Given the description of an element on the screen output the (x, y) to click on. 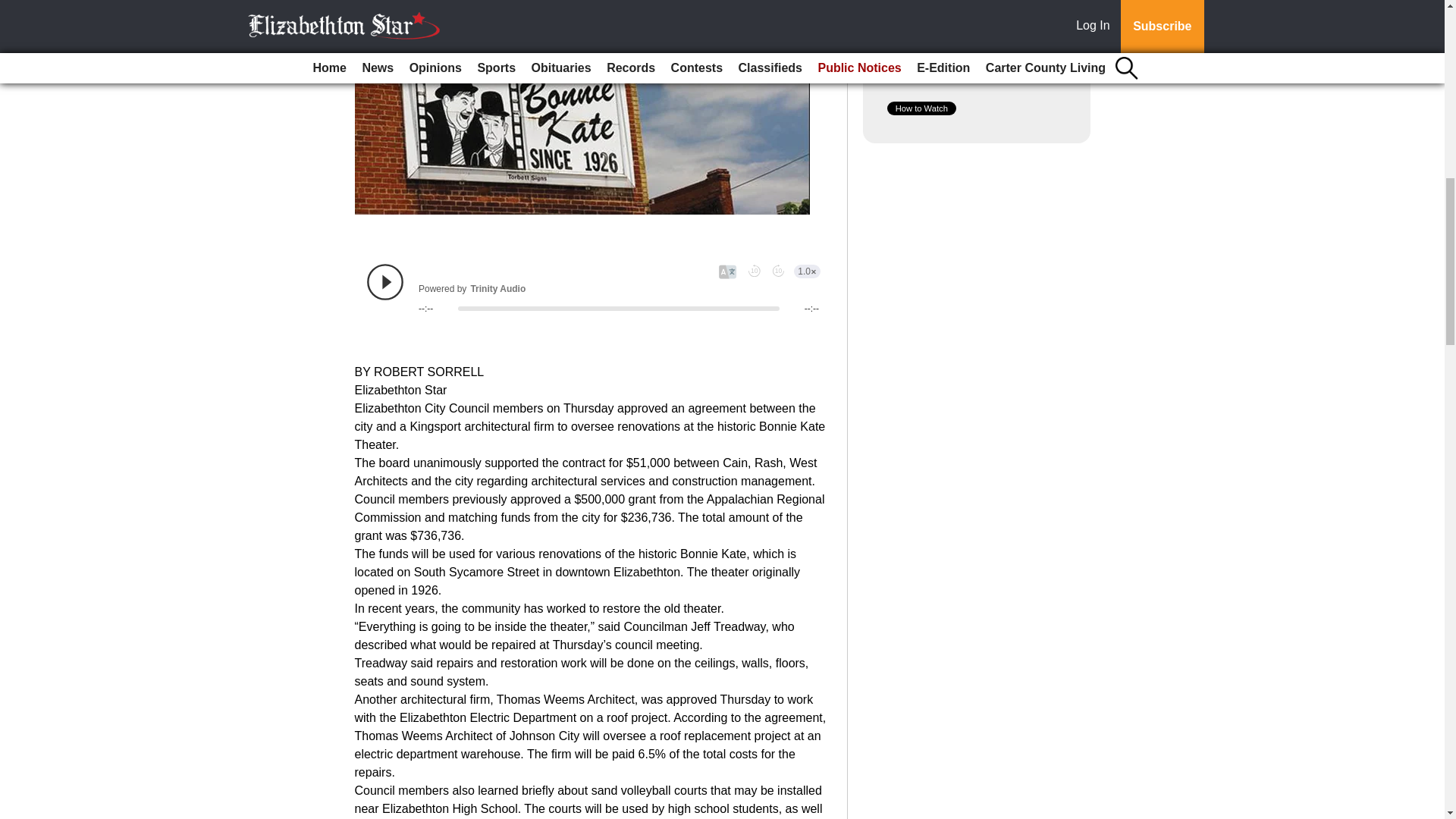
How to Watch (921, 108)
Trinity Audio Player (592, 288)
